Given the description of an element on the screen output the (x, y) to click on. 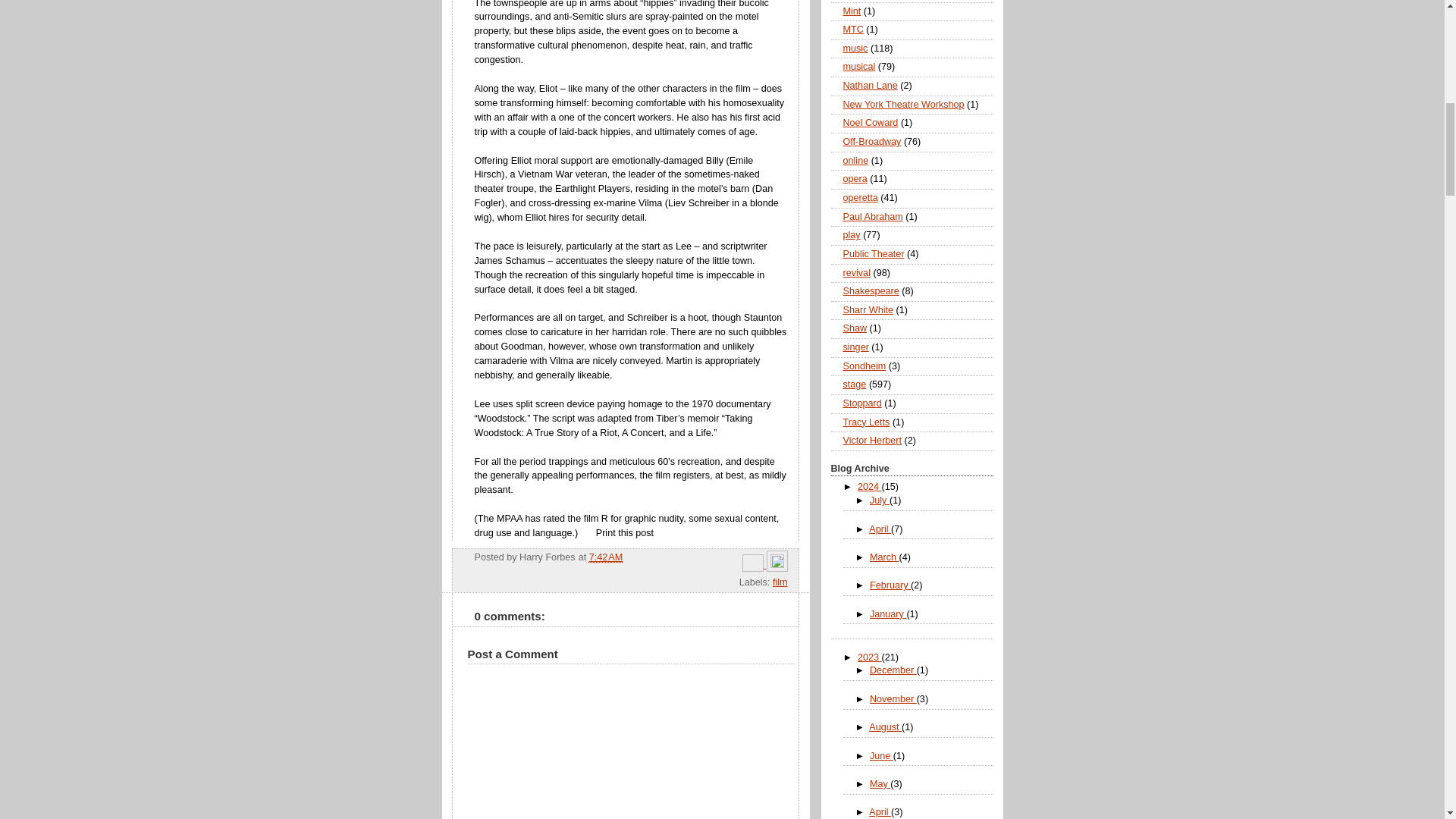
permanent link (606, 557)
film (780, 582)
musical (859, 66)
Edit Post (776, 564)
Email Post (754, 564)
Print this post (624, 532)
MTC (853, 29)
Mint (852, 10)
music (855, 48)
